Given the description of an element on the screen output the (x, y) to click on. 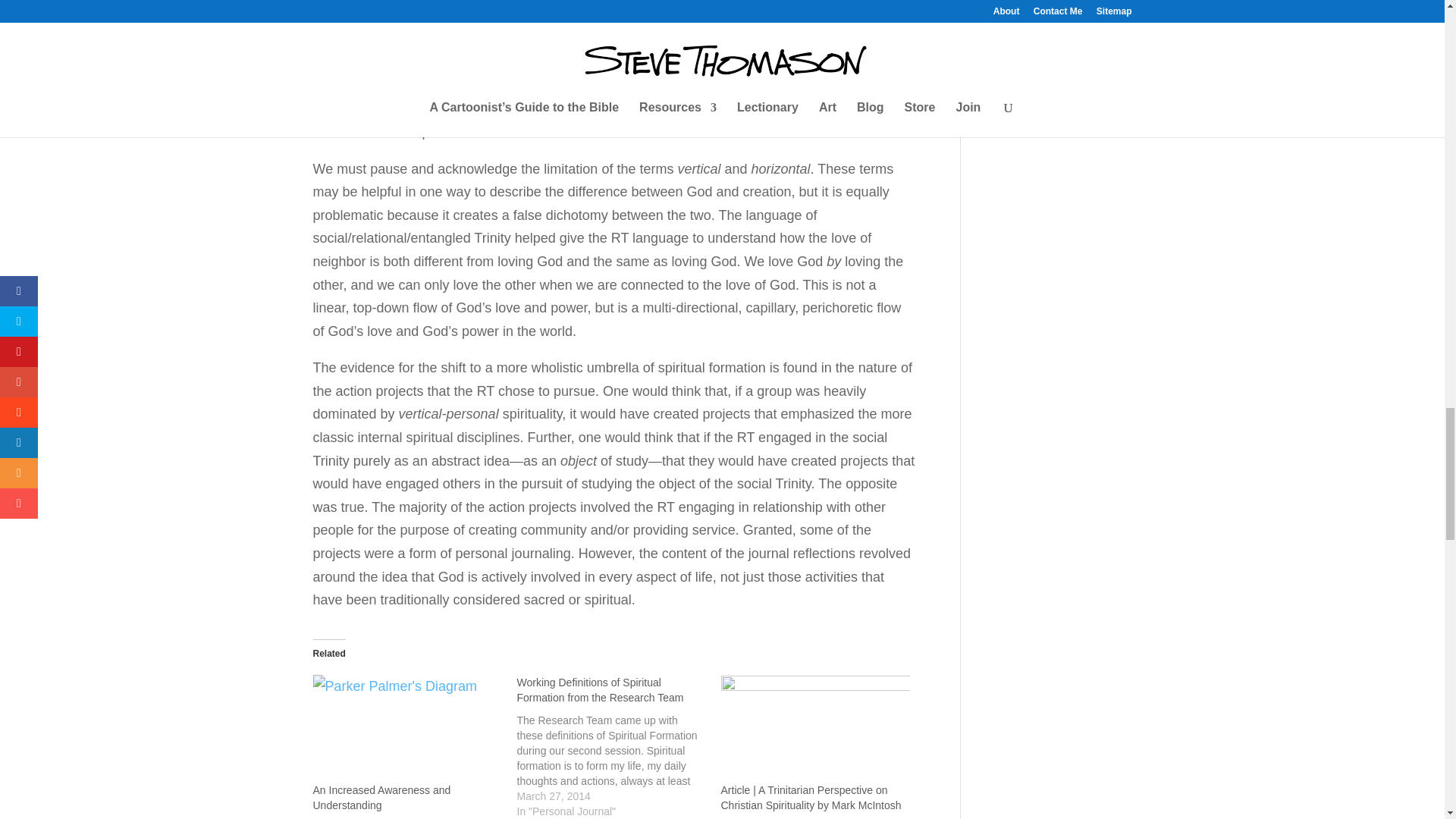
An Increased Awareness and Understanding (381, 797)
An Increased Awareness and Understanding (406, 728)
